Given the description of an element on the screen output the (x, y) to click on. 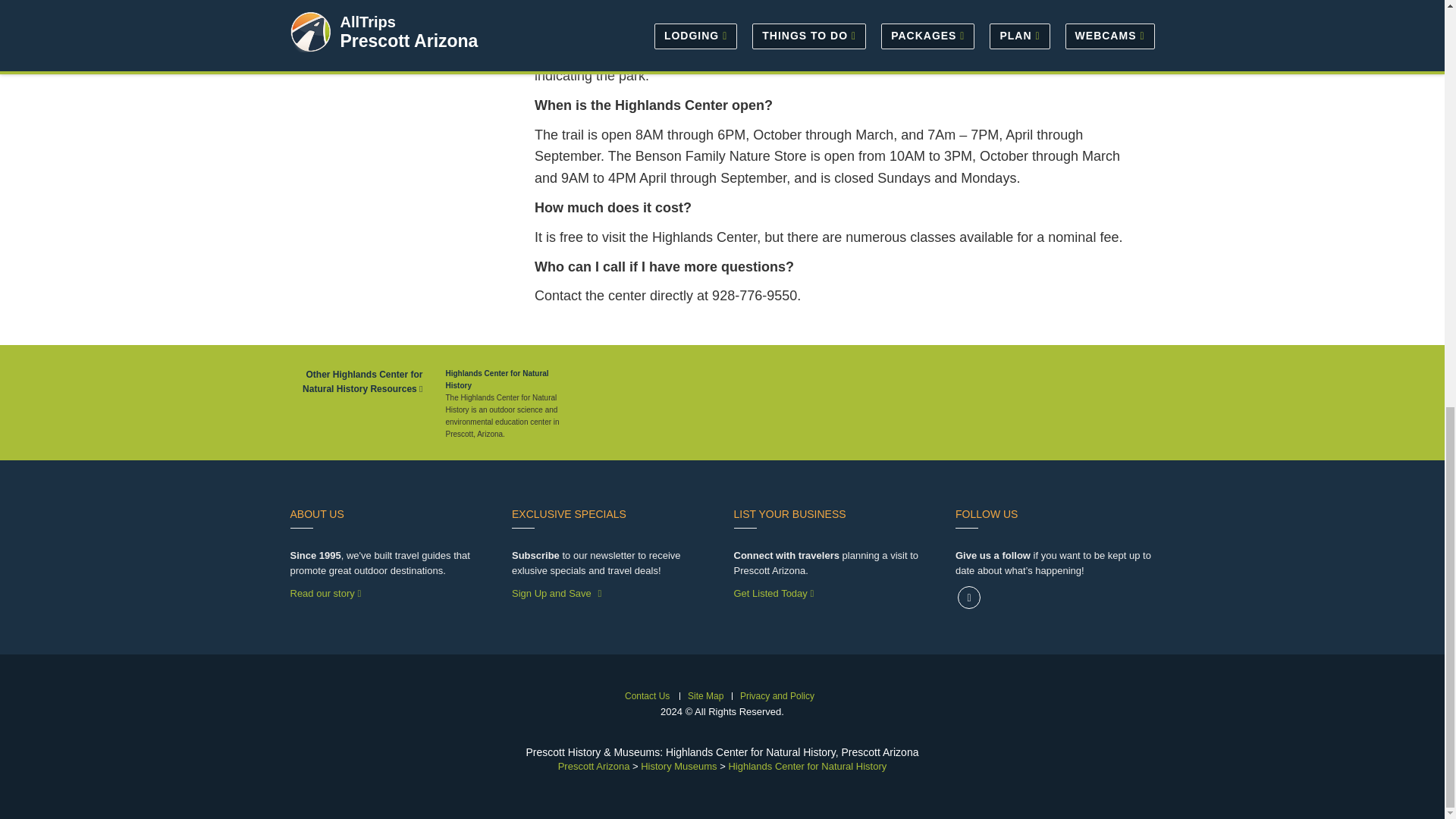
Highlands Center for Natural History (807, 766)
History Museums (678, 766)
Prescott Arizona (593, 766)
